Given the description of an element on the screen output the (x, y) to click on. 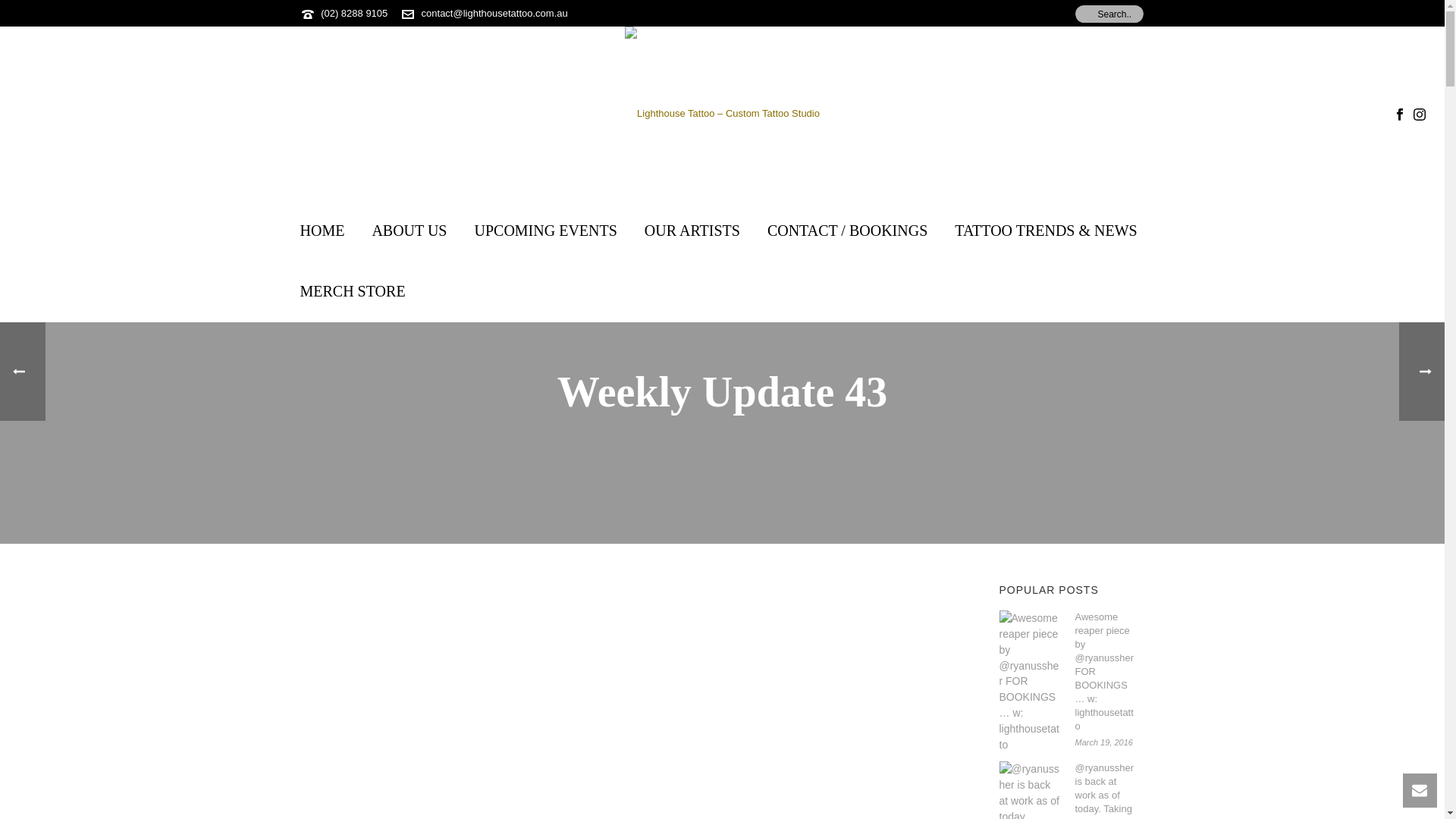
UPCOMING EVENTS Element type: text (545, 230)
CONTACT / BOOKINGS Element type: text (847, 230)
contact@lighthousetattoo.com.au Element type: text (494, 12)
OUR ARTISTS Element type: text (691, 230)
Lighthouse Tattoo Element type: hover (721, 113)
HOME Element type: text (322, 230)
(02) 8288 9105 Element type: text (353, 12)
TATTOO TRENDS & NEWS Element type: text (1045, 230)
ABOUT US Element type: text (408, 230)
MERCH STORE Element type: text (352, 291)
